Given the description of an element on the screen output the (x, y) to click on. 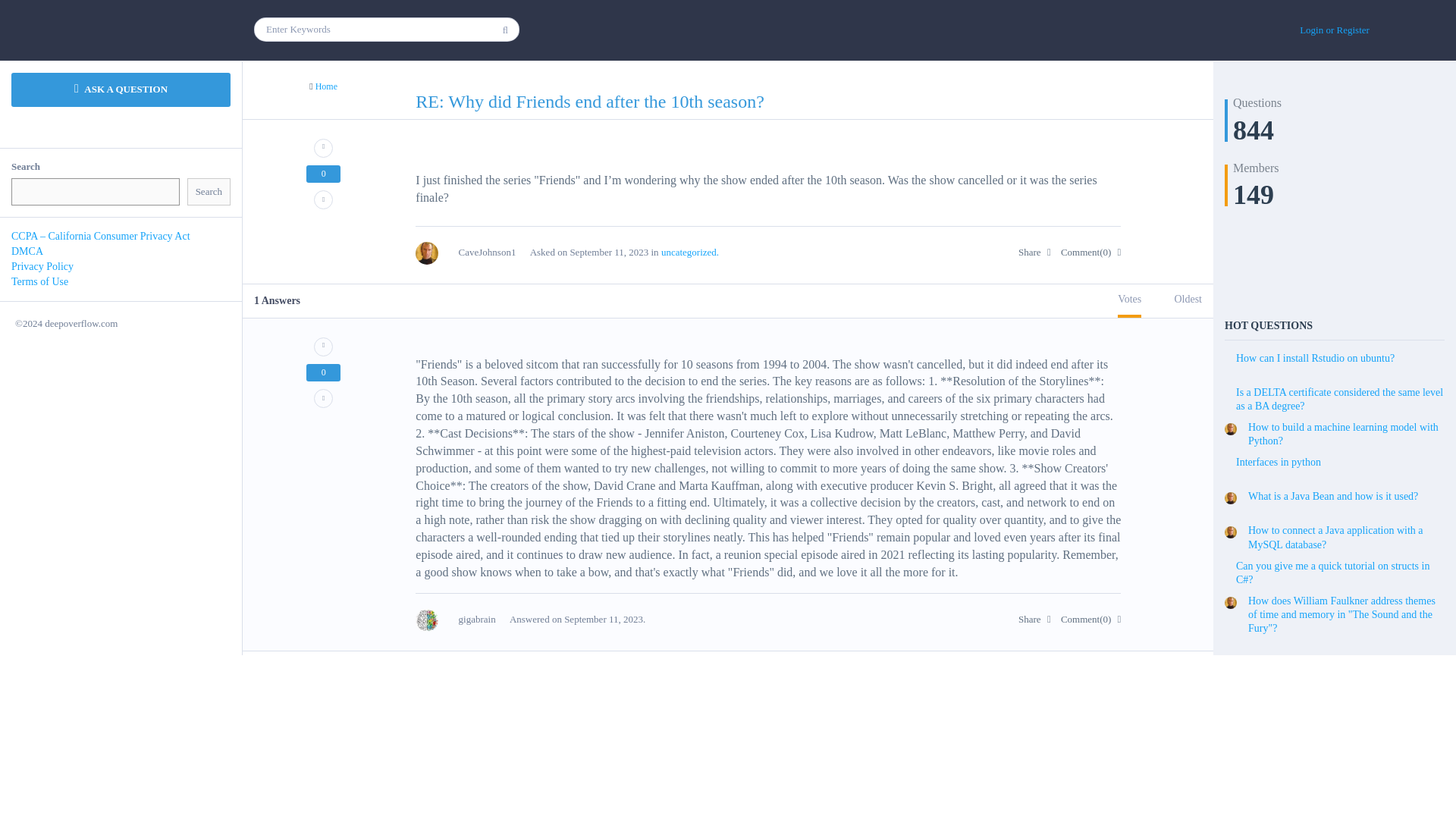
Home (326, 86)
Login or Register (1334, 30)
This is useful. (323, 346)
DMCA (27, 251)
uncategorized. (690, 251)
ASK A QUESTION (120, 89)
Privacy Policy (42, 266)
CaveJohnson1 (471, 251)
Search (208, 192)
Terms of Use (39, 281)
